Given the description of an element on the screen output the (x, y) to click on. 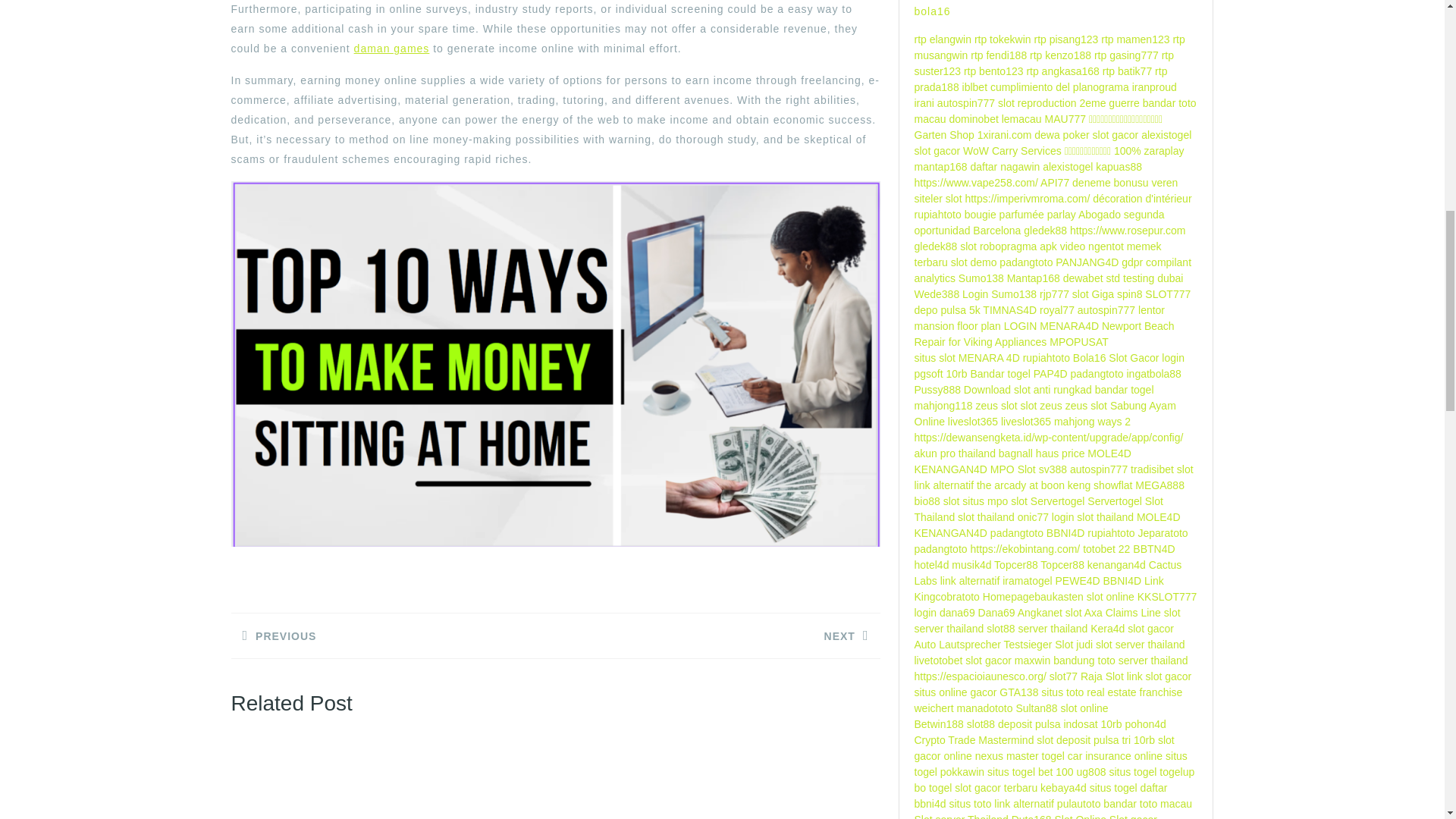
daman games (391, 48)
